Given the description of an element on the screen output the (x, y) to click on. 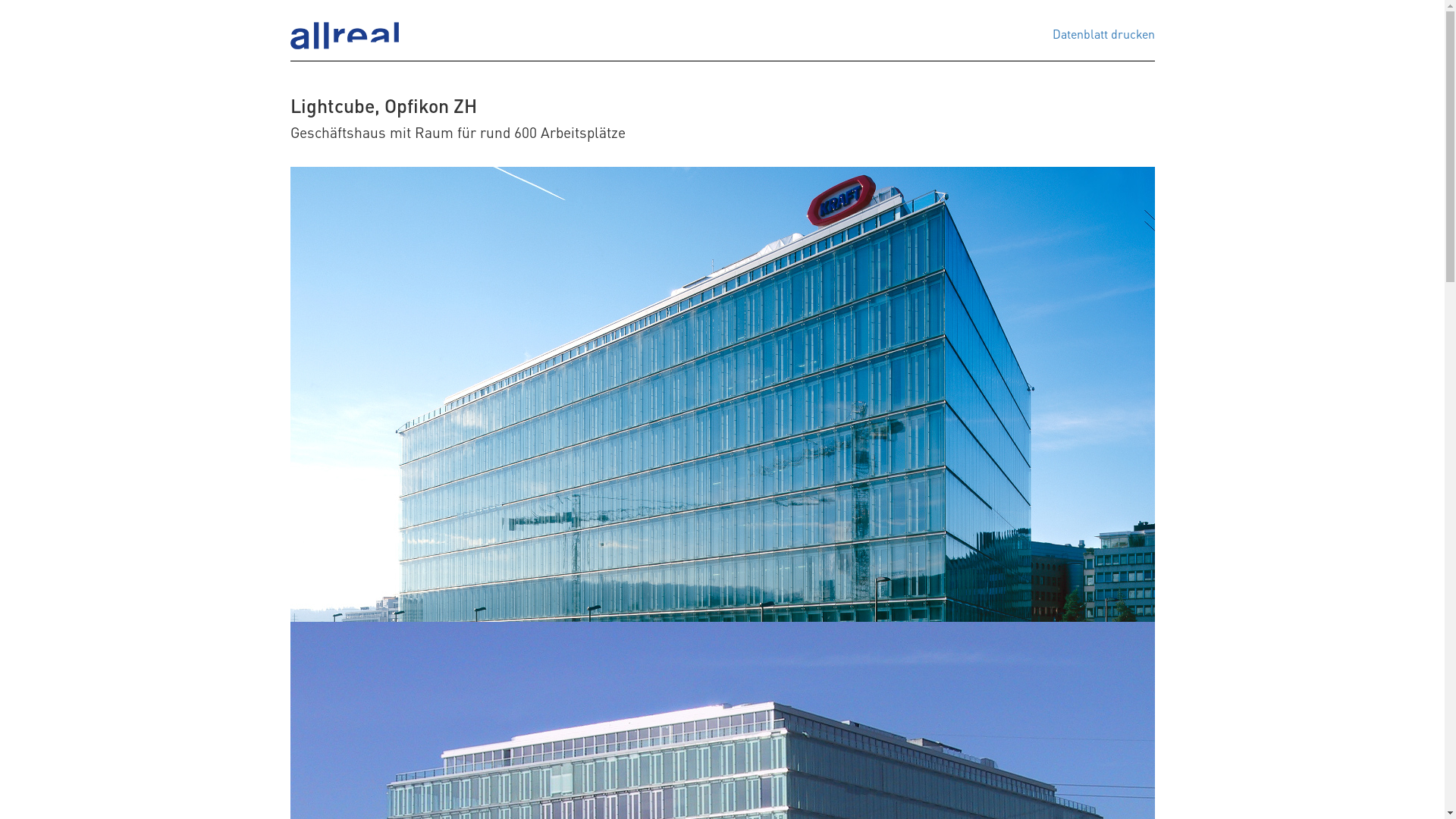
Datenblatt drucken Element type: text (1103, 33)
